Given the description of an element on the screen output the (x, y) to click on. 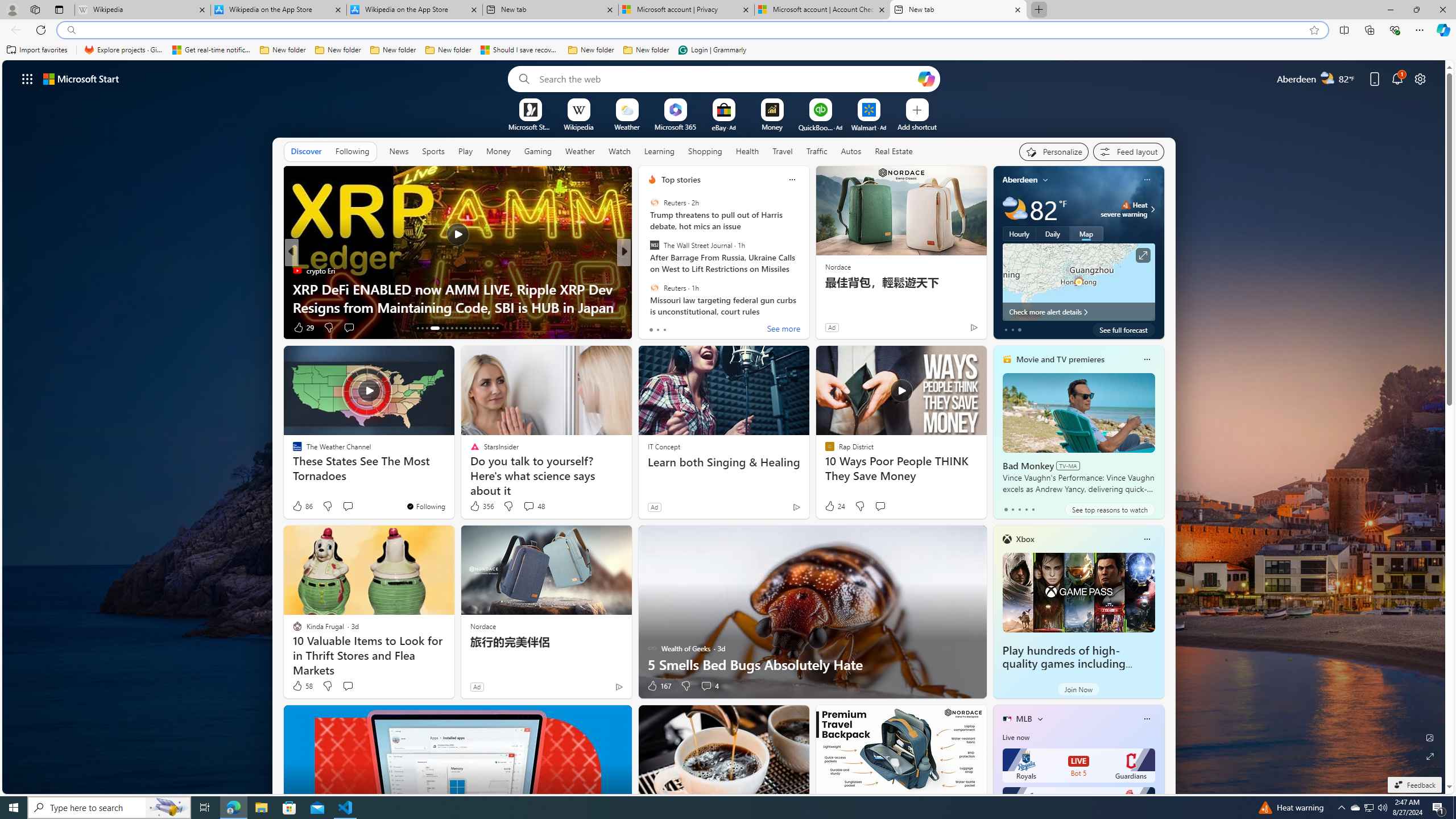
Autos (850, 151)
Weather (579, 151)
Partly cloudy (1014, 208)
View comments 3 Comment (351, 327)
Money (497, 151)
Wikipedia - Sleeping (142, 9)
63 Like (652, 327)
12 Like (652, 327)
tab-0 (1005, 509)
Reuters (654, 287)
Shopping (705, 151)
